Given the description of an element on the screen output the (x, y) to click on. 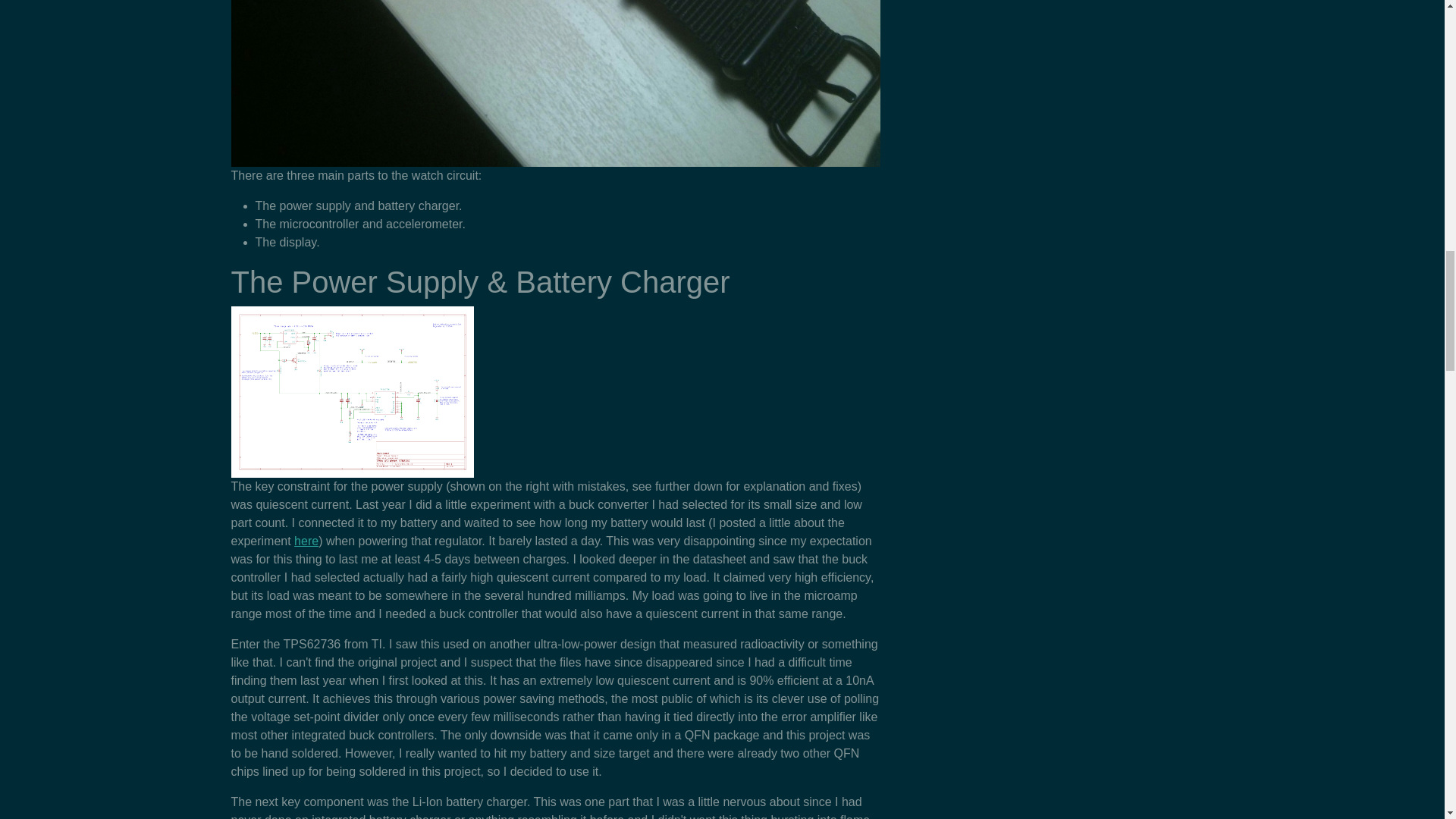
here (306, 540)
